Given the description of an element on the screen output the (x, y) to click on. 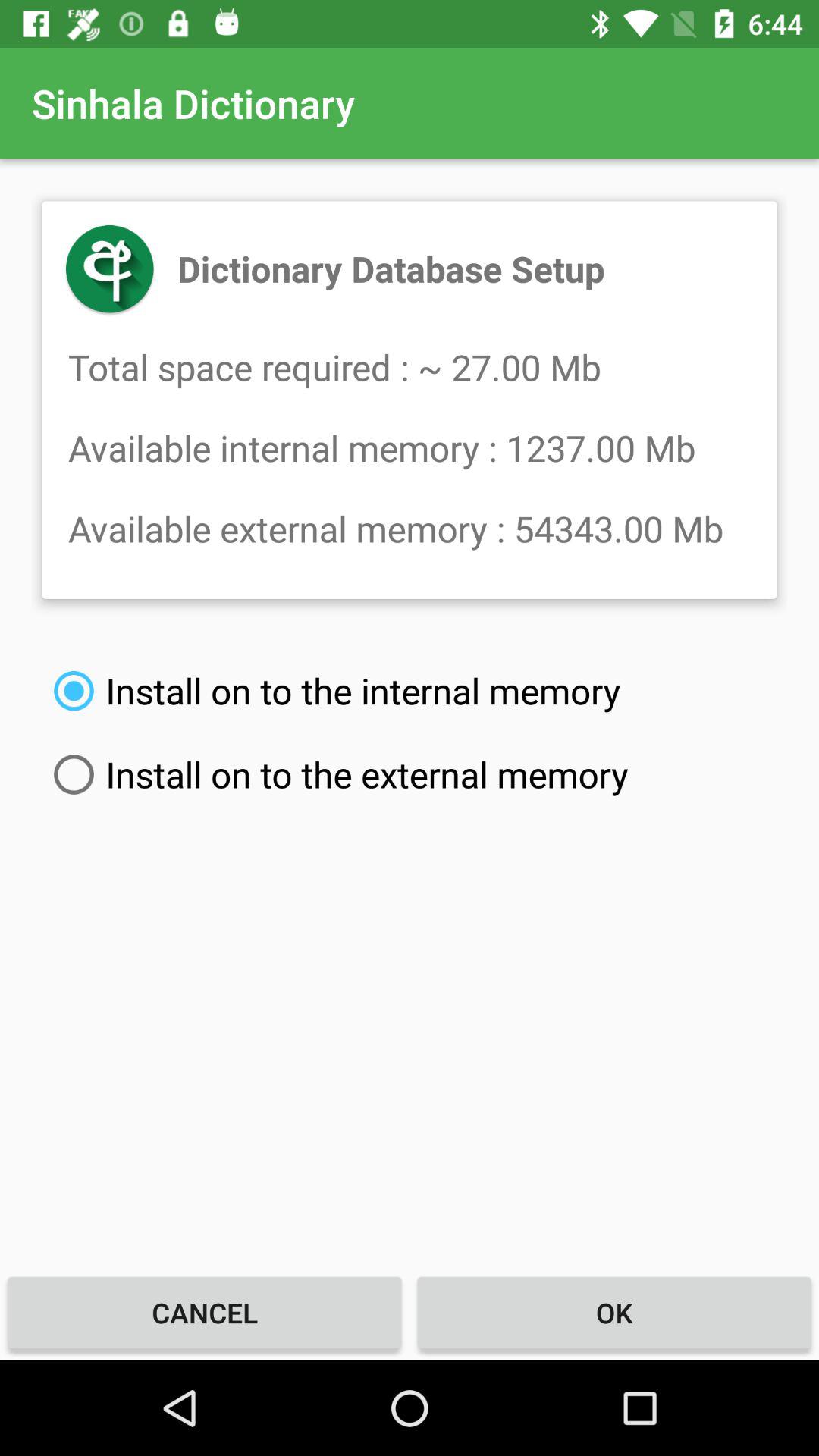
press the item next to the ok item (204, 1312)
